Given the description of an element on the screen output the (x, y) to click on. 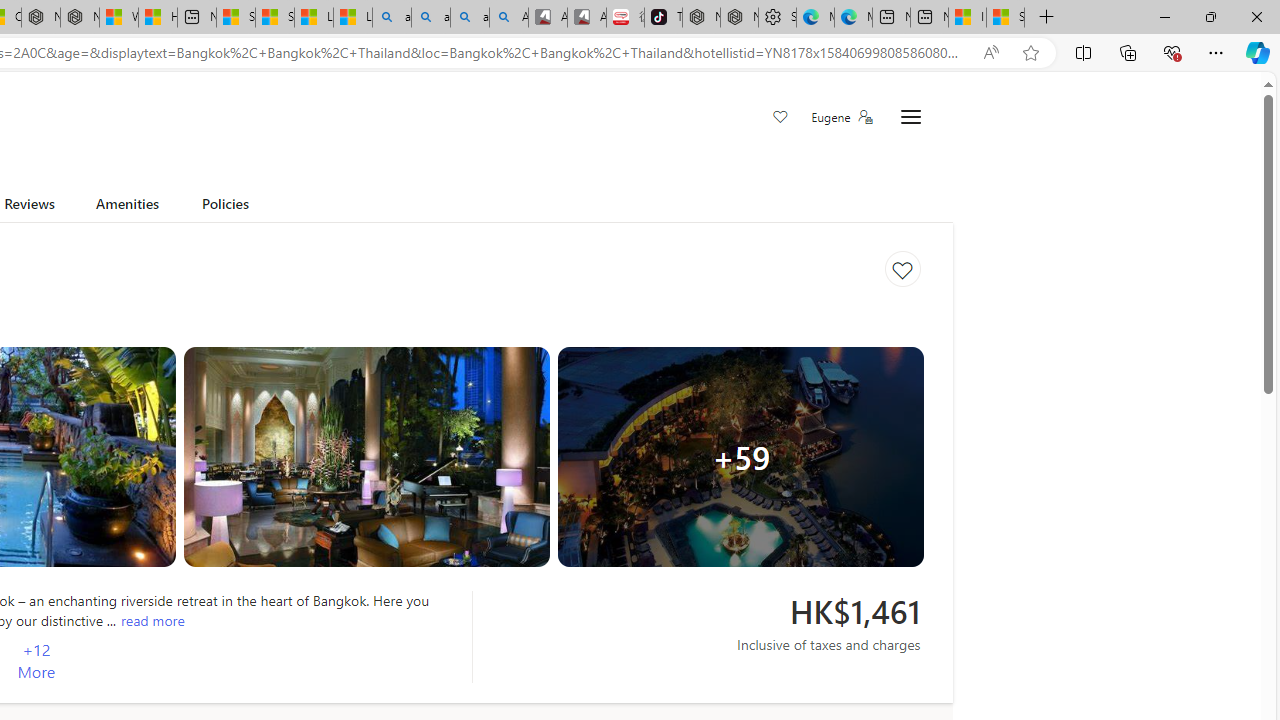
Save to collections (902, 269)
Restore (1210, 16)
I Gained 20 Pounds of Muscle in 30 Days! | Watch (966, 17)
Hotel room image + 59 (740, 456)
Huge shark washes ashore at New York City beach | Watch (157, 17)
Amazon Echo Robot - Search Images (509, 17)
amazon - Search Images (469, 17)
Nordace - Best Sellers (701, 17)
Policies (225, 207)
Split screen (1083, 52)
TikTok (663, 17)
